Given the description of an element on the screen output the (x, y) to click on. 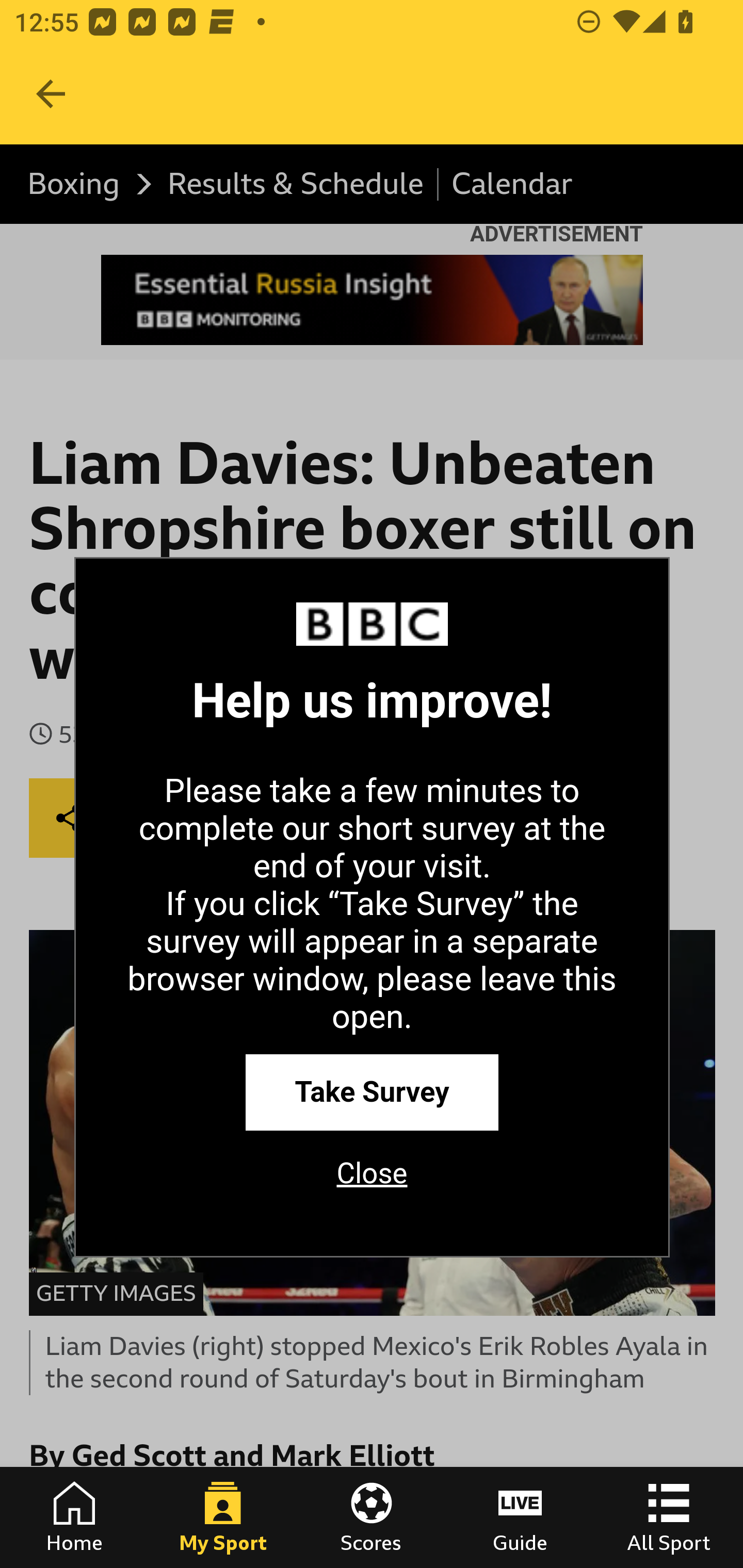
Navigate up (50, 93)
Take Survey (371, 1092)
Close (371, 1180)
Home (74, 1517)
Scores (371, 1517)
Guide (519, 1517)
All Sport (668, 1517)
